Given the description of an element on the screen output the (x, y) to click on. 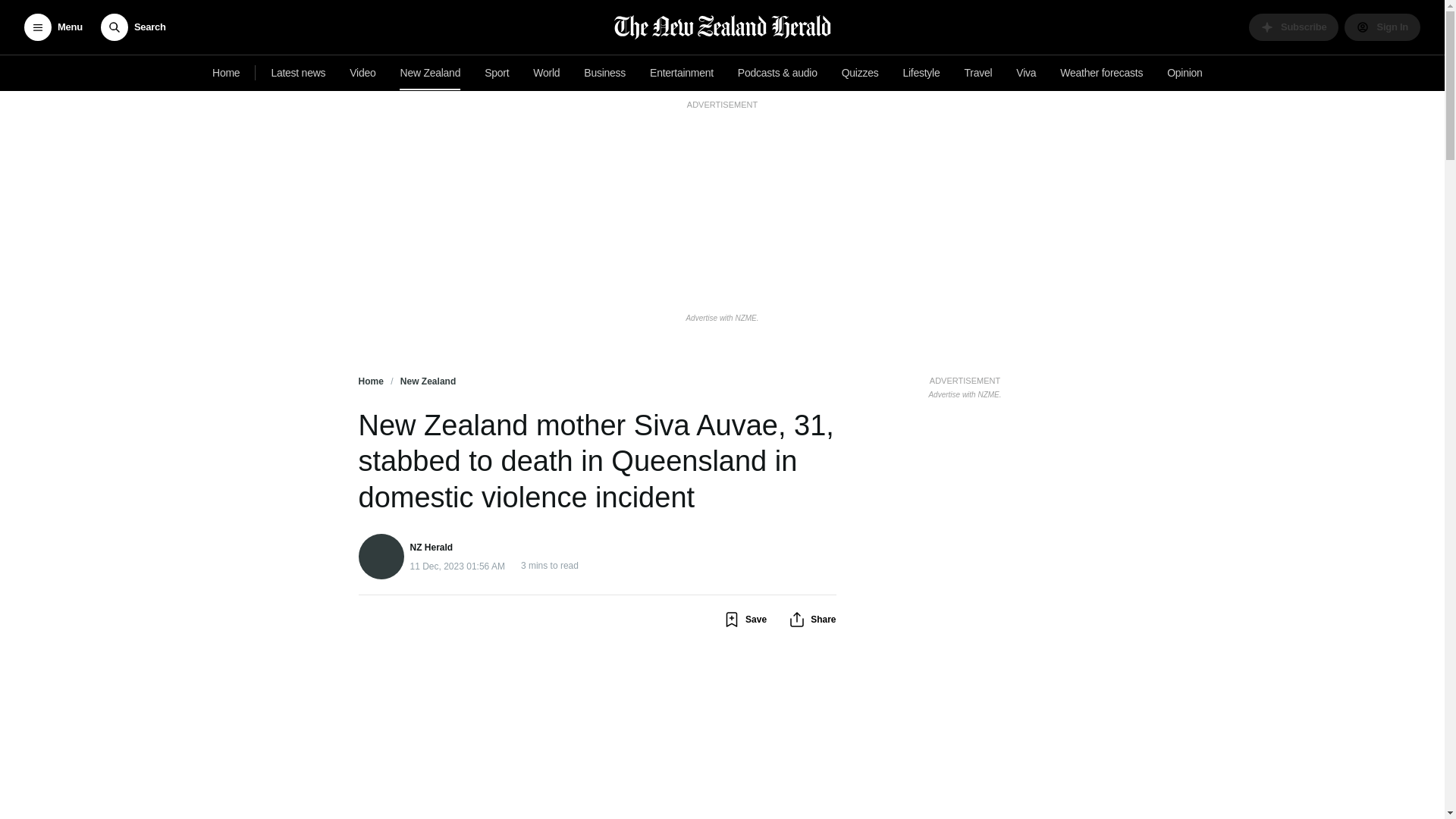
Video (362, 72)
Viva (1026, 72)
Opinion (1184, 72)
New Zealand (430, 72)
Search (132, 26)
Sport (497, 72)
Manage your account (1382, 26)
Entertainment (681, 72)
Lifestyle (921, 72)
Travel (978, 72)
